Given the description of an element on the screen output the (x, y) to click on. 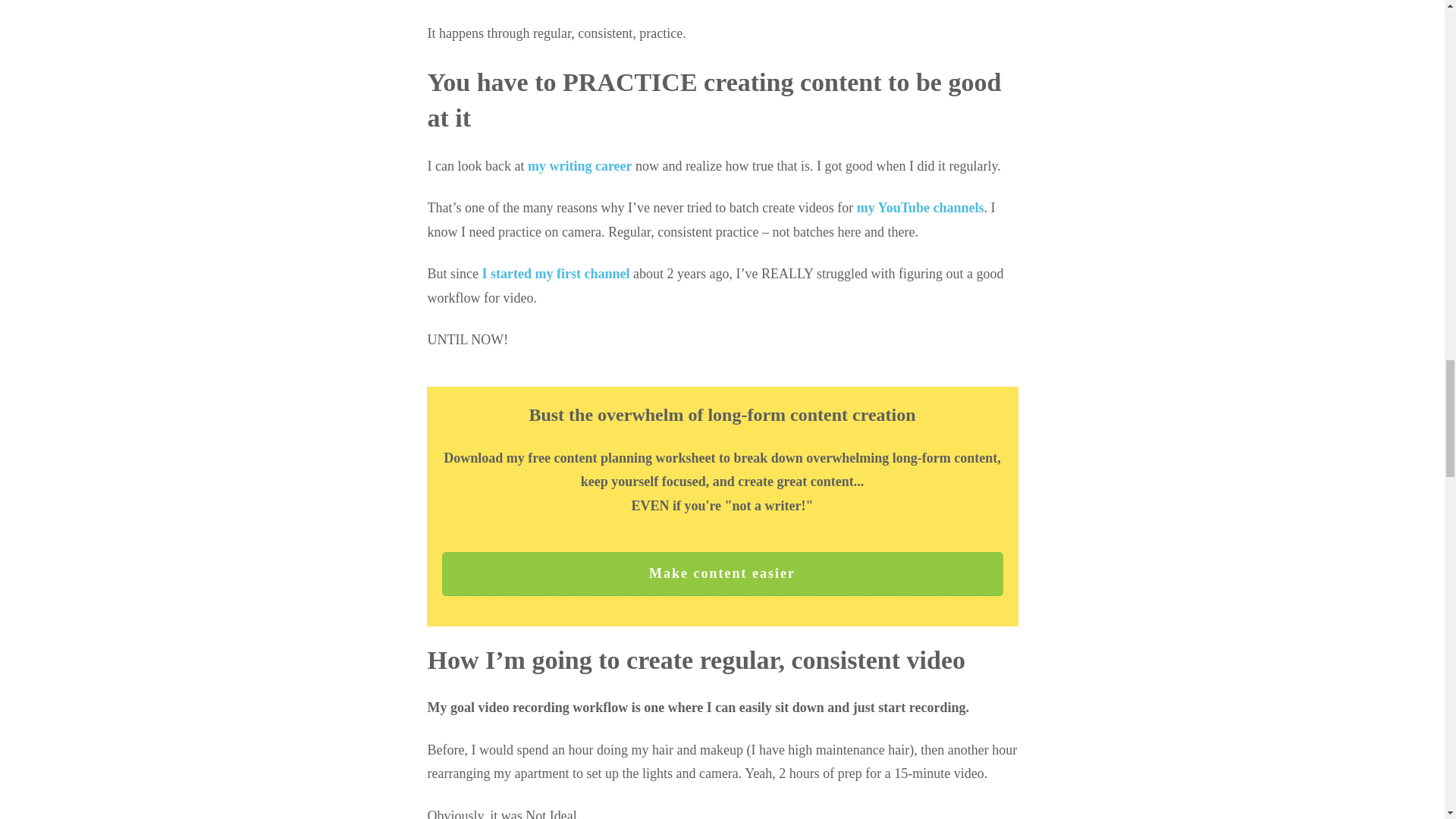
Make content easier (722, 574)
my writing career (579, 165)
I started my first channel (555, 273)
my YouTube channels (920, 207)
